Given the description of an element on the screen output the (x, y) to click on. 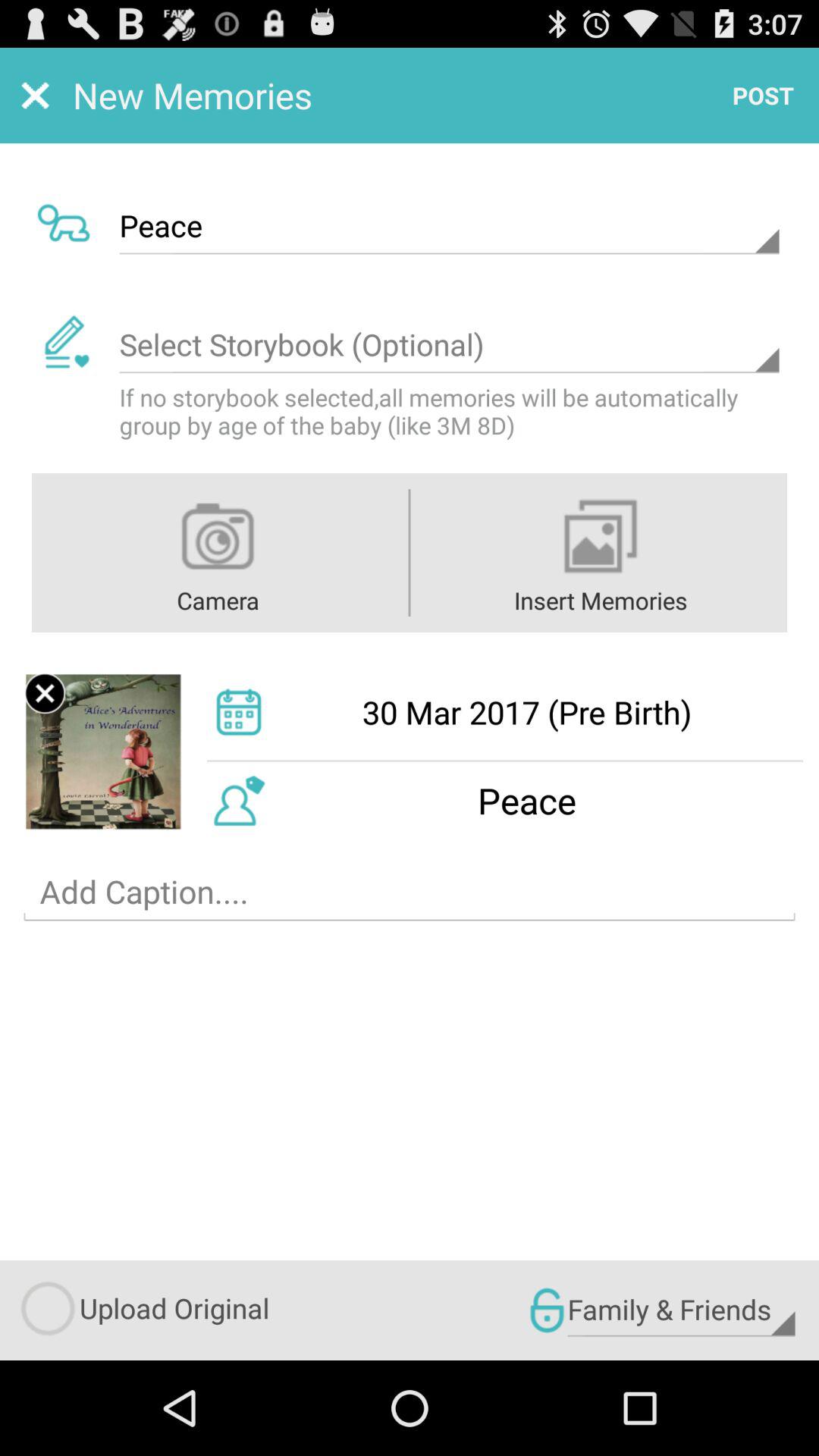
add a caption (409, 891)
